Given the description of an element on the screen output the (x, y) to click on. 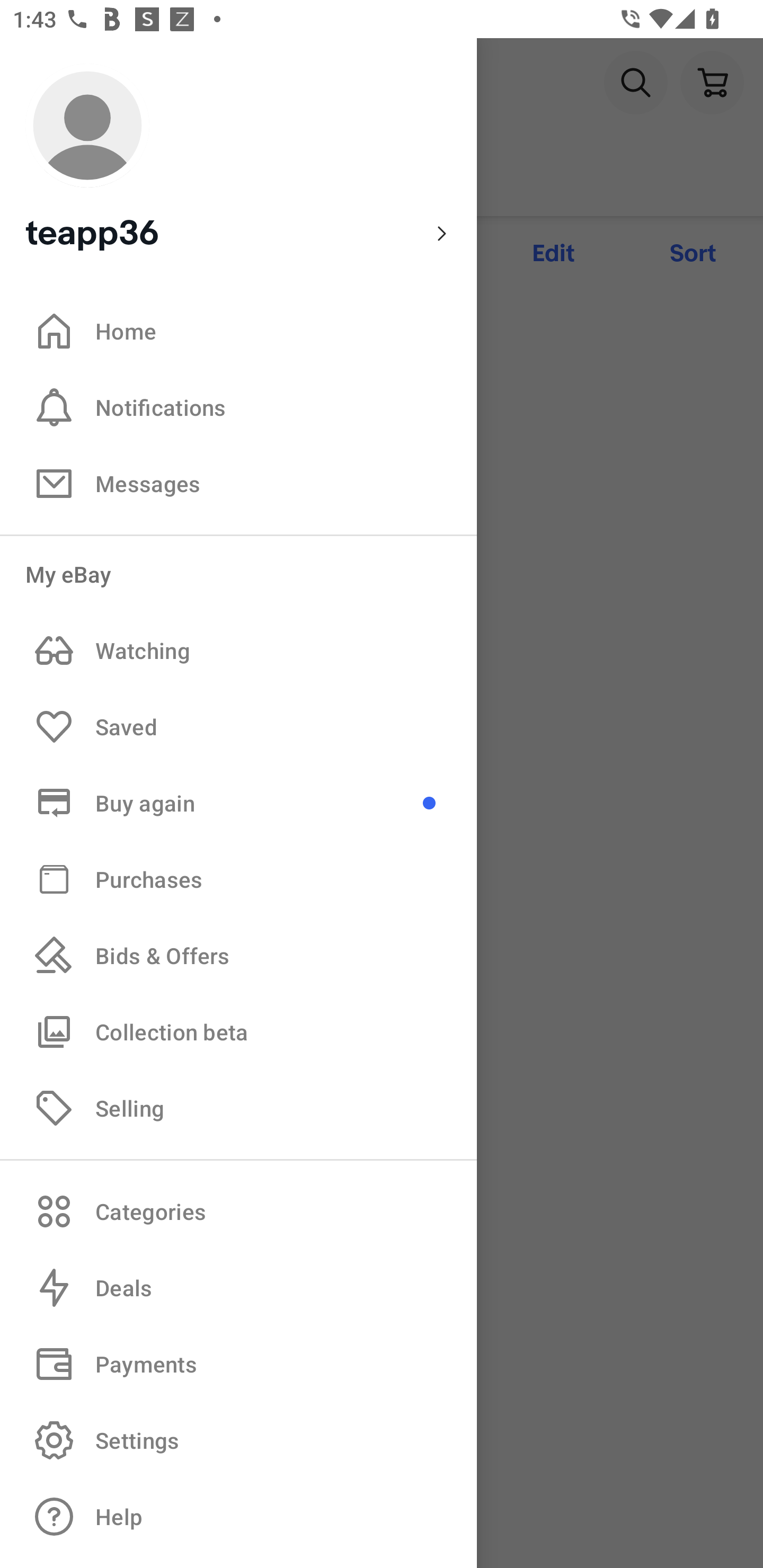
teapp36 (238, 158)
Home (238, 330)
Notifications (238, 406)
Messages (238, 483)
Watching (238, 650)
Saved (238, 726)
Buy again Is new feature (238, 802)
Purchases (238, 878)
Bids & Offers (238, 955)
Collection beta (238, 1031)
Selling (238, 1107)
Categories (238, 1210)
Deals (238, 1287)
Payments (238, 1363)
Settings (238, 1439)
Help (238, 1516)
